Given the description of an element on the screen output the (x, y) to click on. 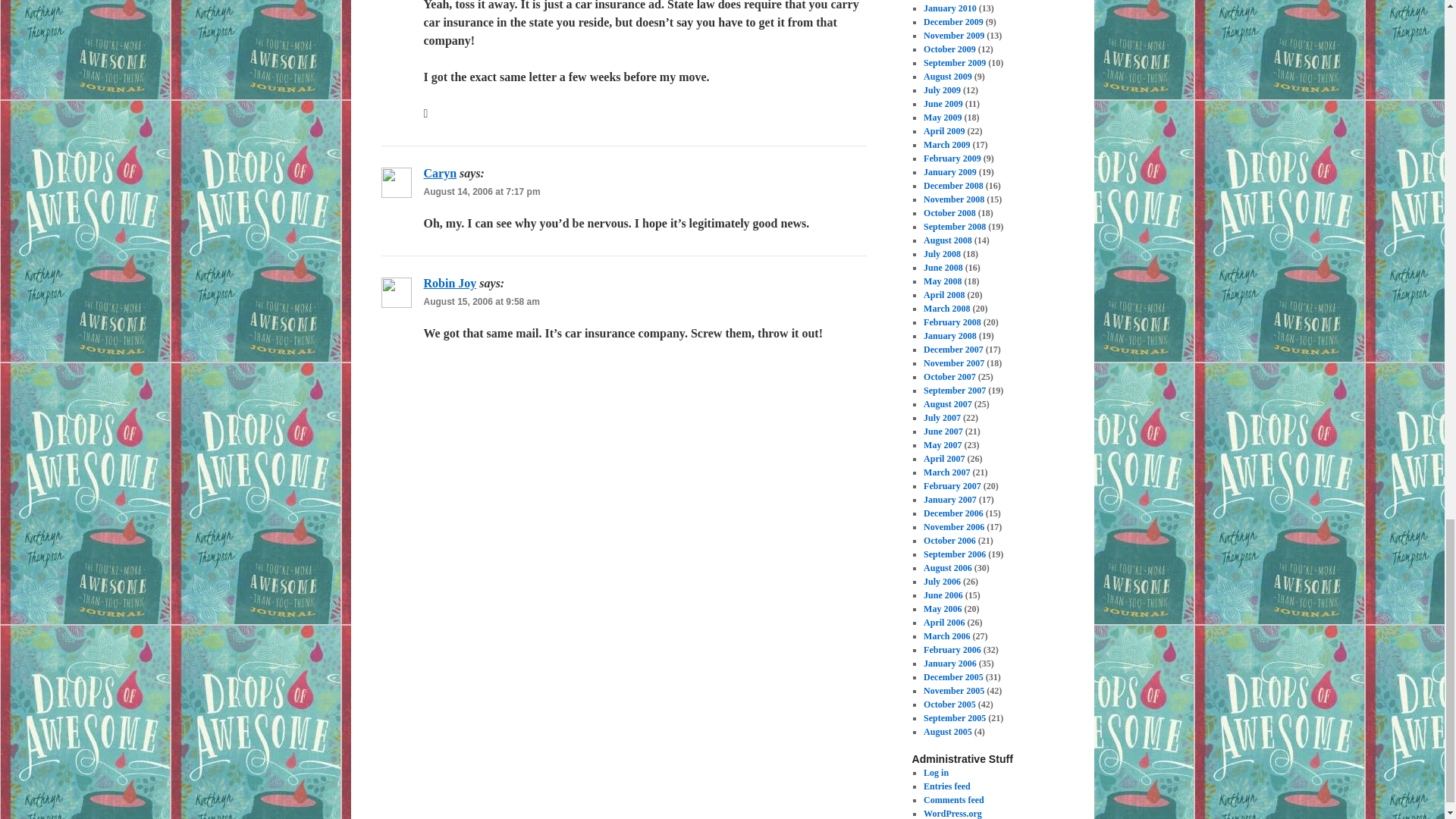
August 14, 2006 at 7:17 pm (481, 191)
Robin Joy (449, 282)
Caryn (440, 173)
August 15, 2006 at 9:58 am (480, 301)
